Given the description of an element on the screen output the (x, y) to click on. 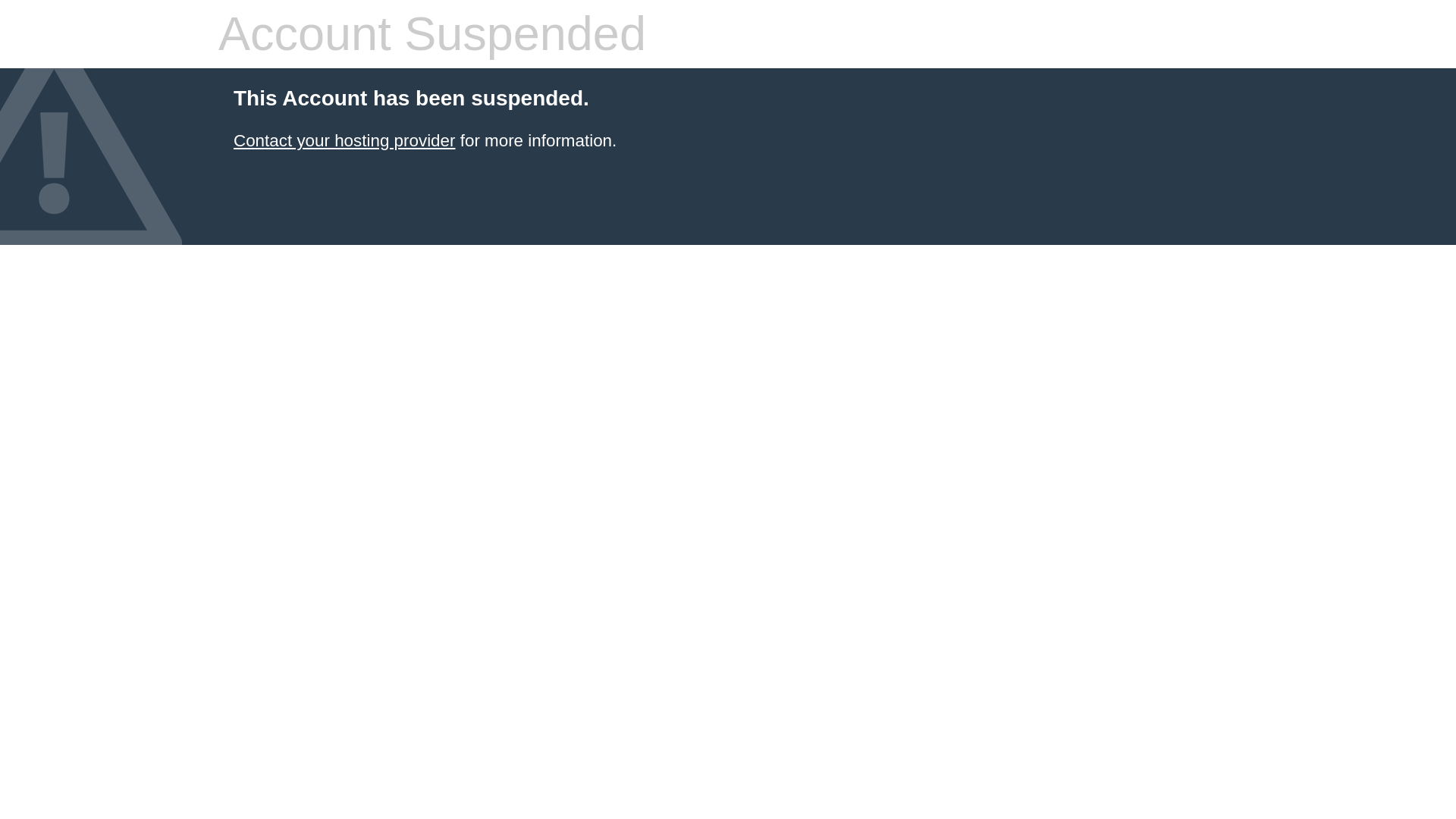
Contact your hosting provider (343, 140)
